Given the description of an element on the screen output the (x, y) to click on. 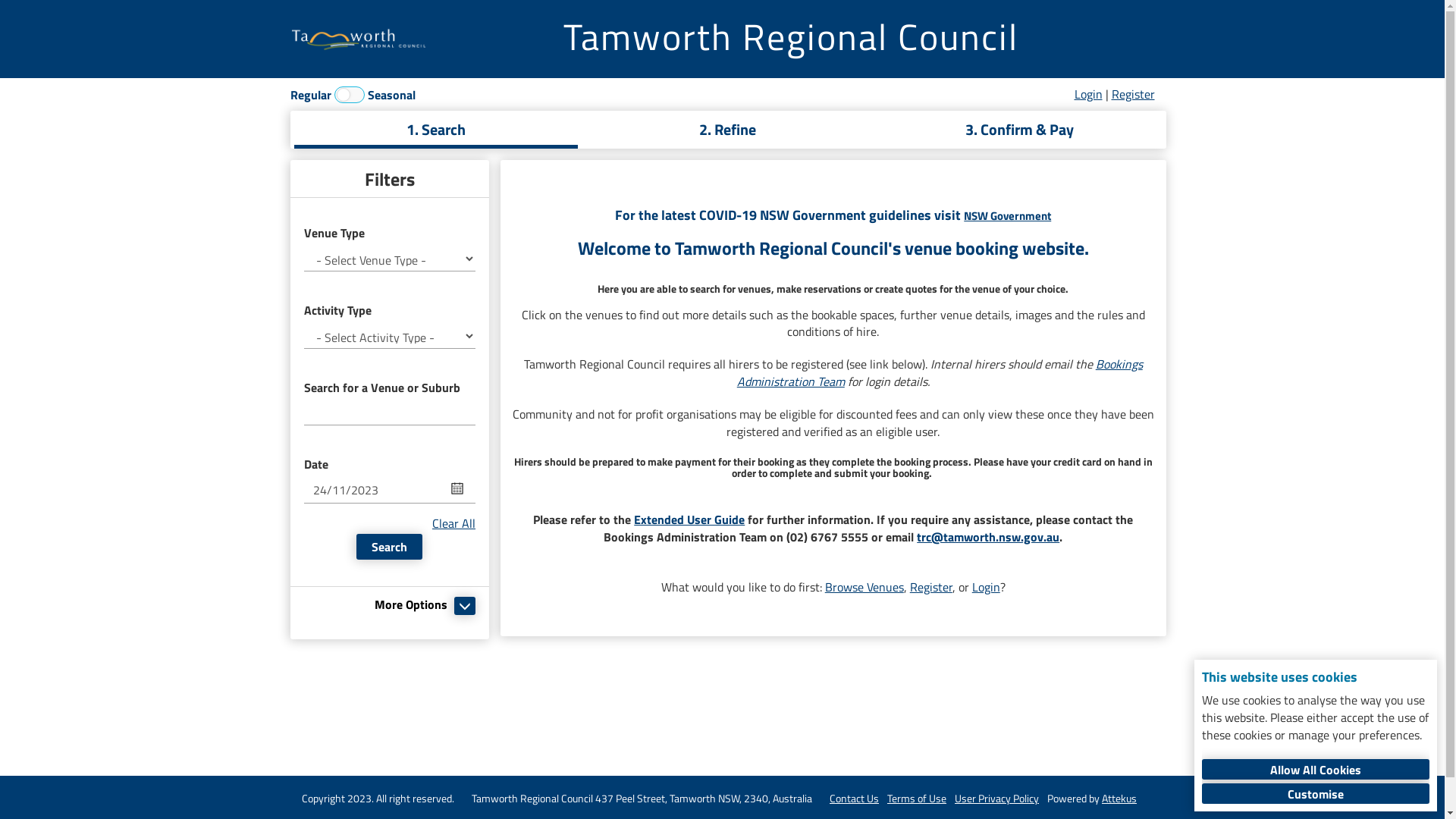
Extended User Guide Element type: text (688, 519)
NSW Government Element type: text (1007, 215)
Clear All Element type: text (453, 523)
trc@tamworth.nsw.gov.au Element type: text (987, 536)
Bookings Administration Team Element type: text (939, 372)
Attekus Element type: text (1118, 798)
Browse Venues Element type: text (864, 586)
Register Element type: text (931, 586)
3. Confirm & Pay Element type: text (1019, 129)
Search Element type: text (389, 546)
Allow All Cookies Element type: text (1315, 769)
More Options Element type: text (412, 604)
Terms of Use Element type: text (916, 798)
Tamworth Regional Council Element type: text (790, 36)
1. Search Element type: text (436, 129)
2. Refine Element type: text (727, 129)
Contact Us Element type: text (853, 798)
User Privacy Policy Element type: text (996, 798)
Register Element type: text (1132, 93)
Login Element type: text (1087, 93)
Customise Element type: text (1315, 793)
Login Element type: text (986, 586)
